Given the description of an element on the screen output the (x, y) to click on. 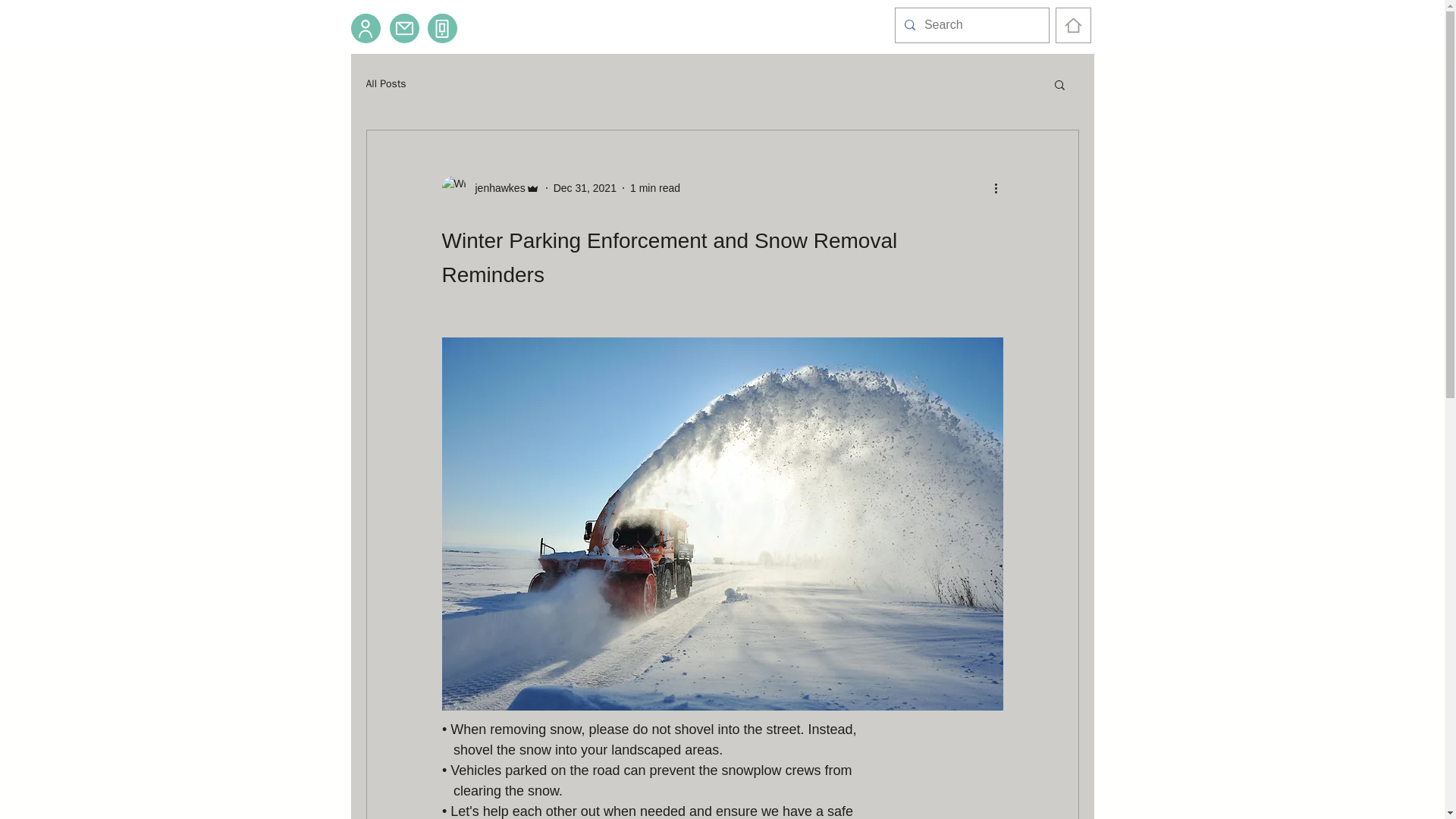
jenhawkes (494, 188)
1 min read (654, 187)
All Posts (385, 83)
jenhawkes (489, 187)
Dec 31, 2021 (584, 187)
